Given the description of an element on the screen output the (x, y) to click on. 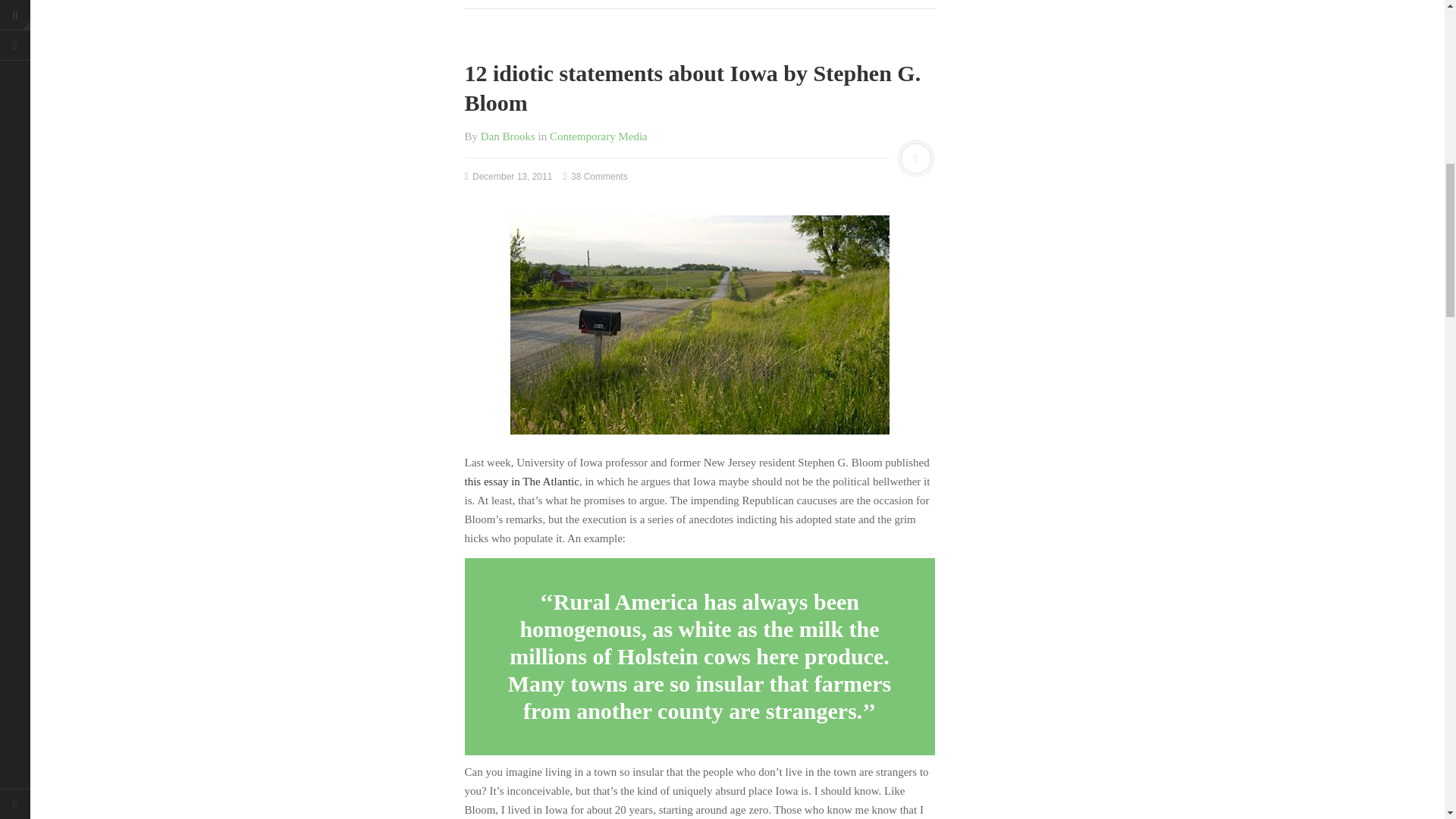
1:21 pm (507, 176)
38 Comments (595, 176)
December 13, 2011 (507, 176)
Dan Brooks (507, 136)
Iowa (698, 324)
Contemporary Media (598, 136)
this essay in The Atlantic (521, 481)
View all posts by Dan Brooks (507, 136)
12 idiotic statements about Iowa by Stephen G. Bloom (692, 87)
